Given the description of an element on the screen output the (x, y) to click on. 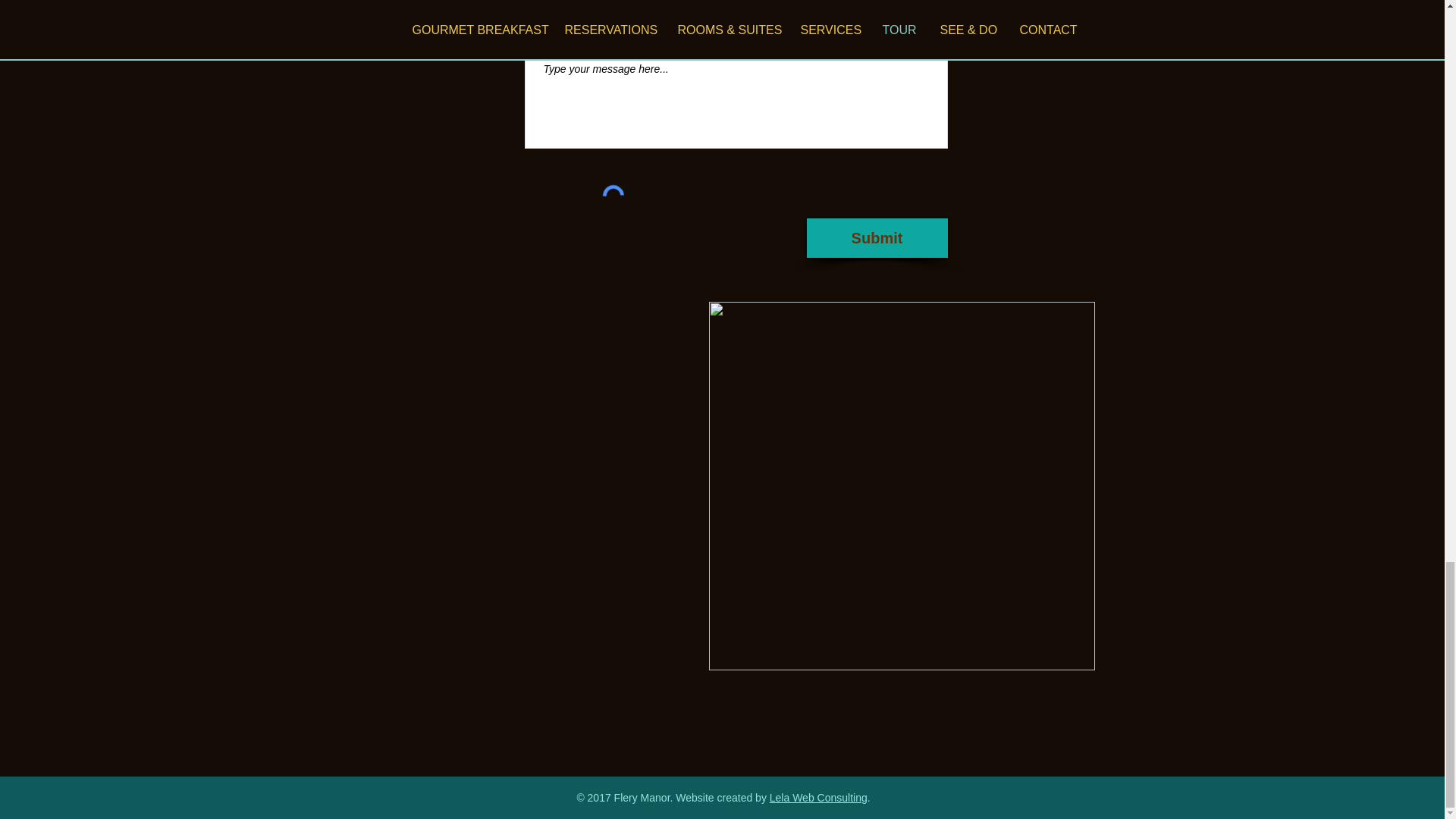
Lela Web Consulting (818, 797)
Submit (876, 237)
